Given the description of an element on the screen output the (x, y) to click on. 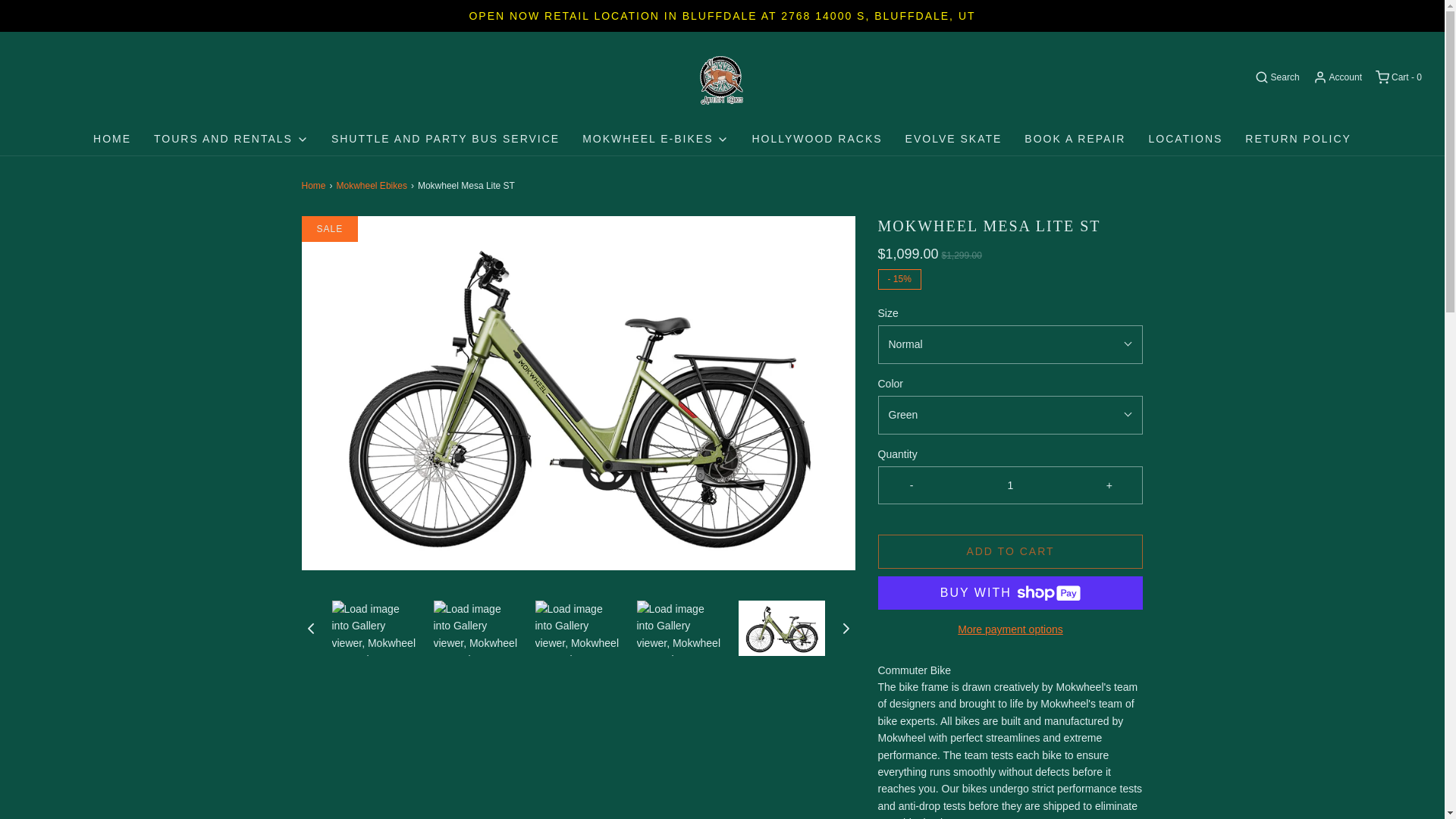
Home (315, 186)
HOLLYWOOD RACKS (816, 138)
1 (1009, 484)
Cart (1397, 77)
LOCATIONS (1185, 138)
BOOK A REPAIR (1075, 138)
TOURS AND RENTALS (231, 138)
Cart - 0 (1397, 77)
EVOLVE SKATE (954, 138)
Log in (1336, 77)
Back to the frontpage (315, 186)
Search (1276, 77)
MOKWHEEL E-BIKES (655, 138)
HOME (112, 138)
